Given the description of an element on the screen output the (x, y) to click on. 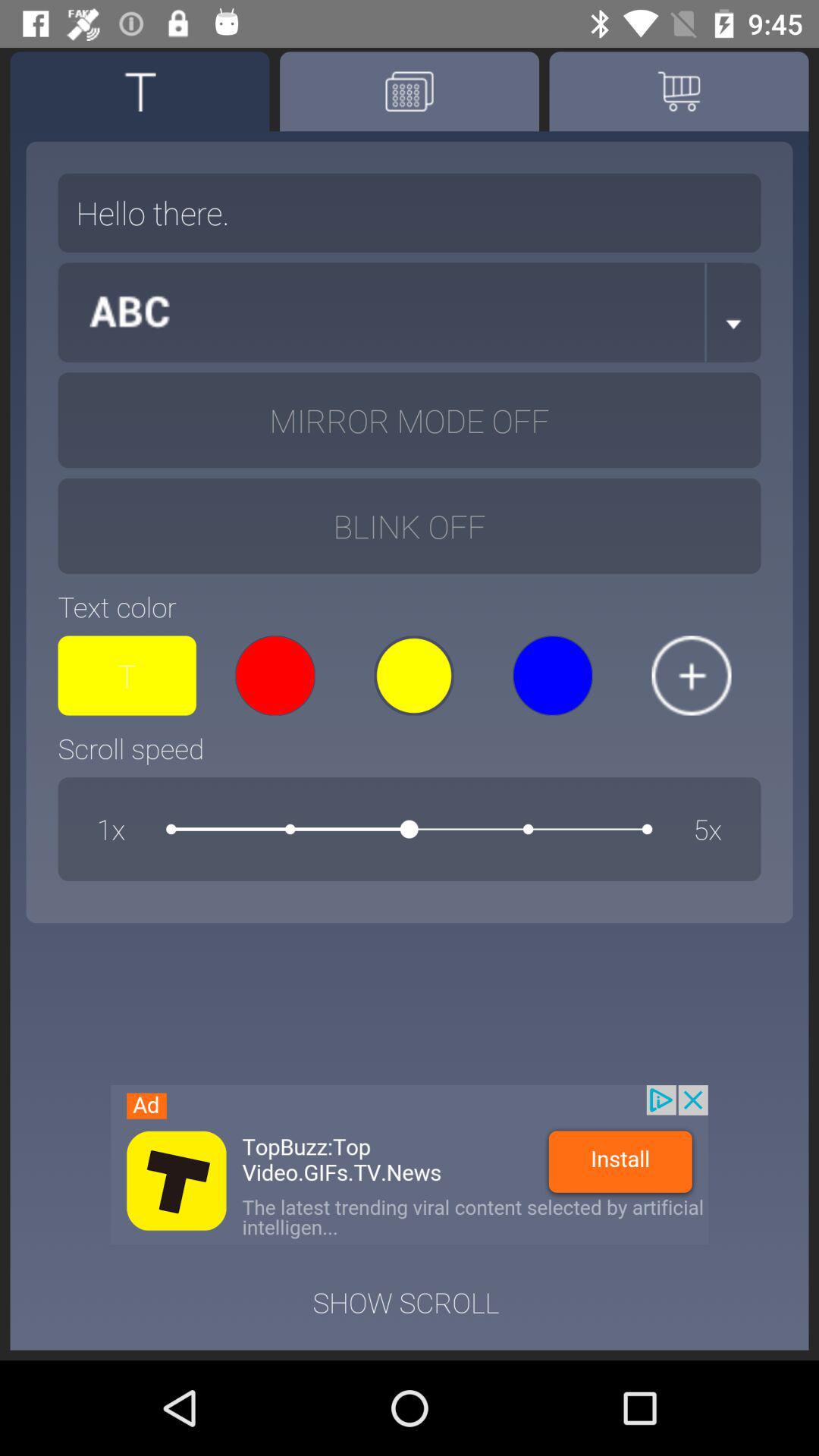
change color option (691, 675)
